Given the description of an element on the screen output the (x, y) to click on. 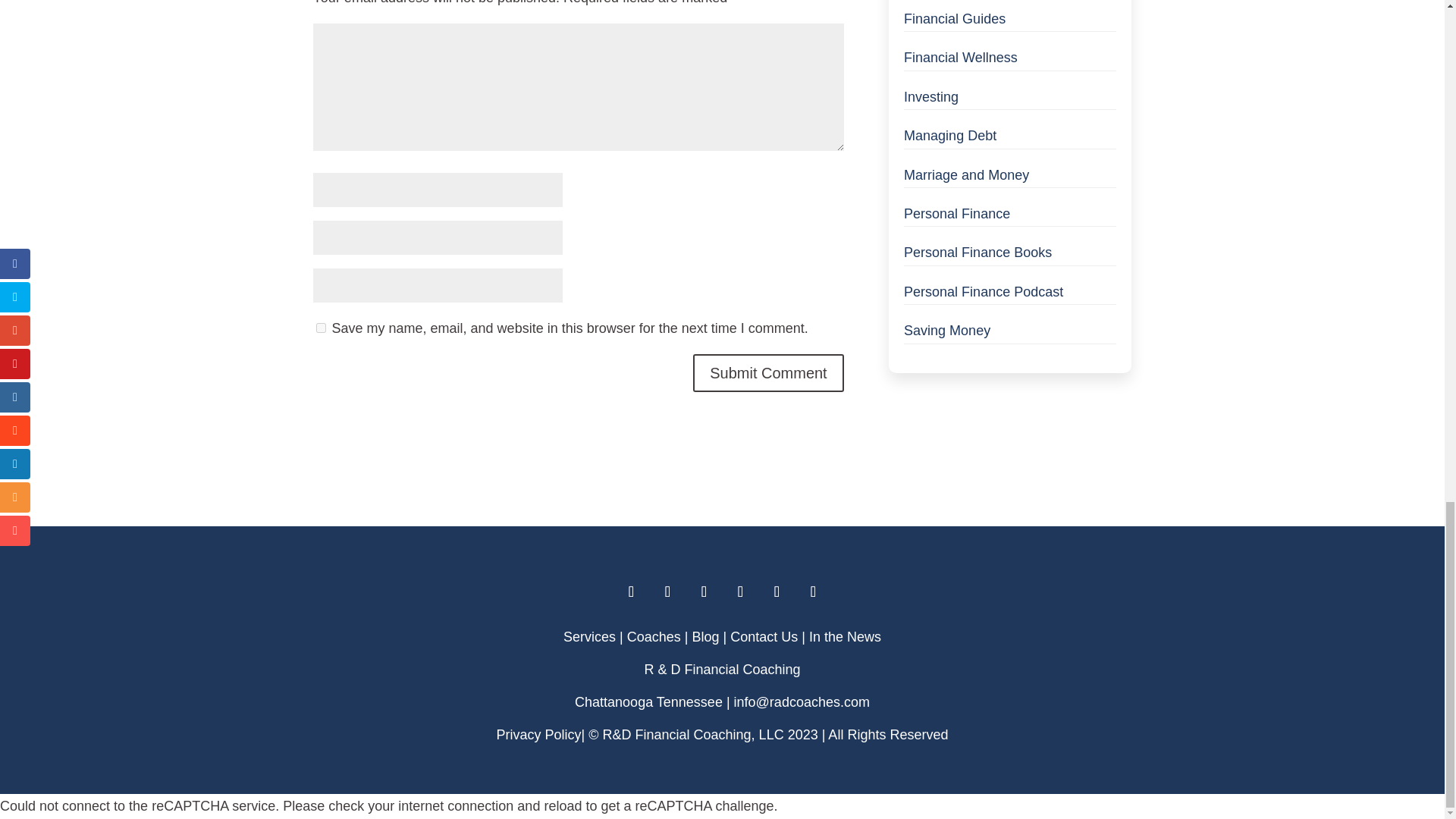
yes (319, 327)
Submit Comment (768, 372)
Financial Wellness (960, 57)
Follow on X (740, 591)
Managing Debt (949, 135)
Investing (931, 96)
Follow on Spotify (812, 591)
Follow on Pinterest (776, 591)
Financial Guides (955, 18)
Follow on Instagram (630, 591)
Follow on Facebook (703, 591)
Follow on LinkedIn (667, 591)
